Given the description of an element on the screen output the (x, y) to click on. 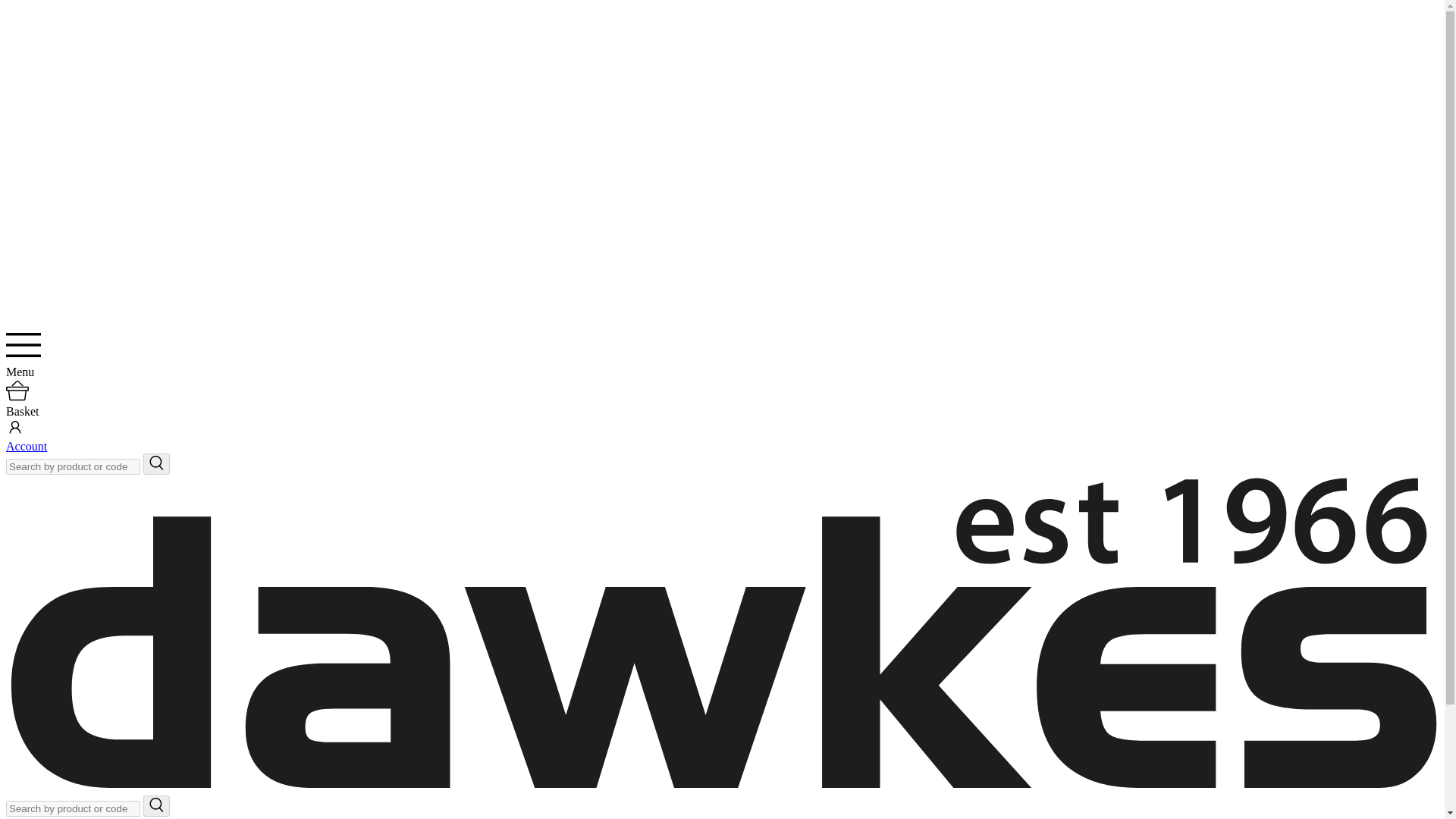
Account (25, 445)
